Given the description of an element on the screen output the (x, y) to click on. 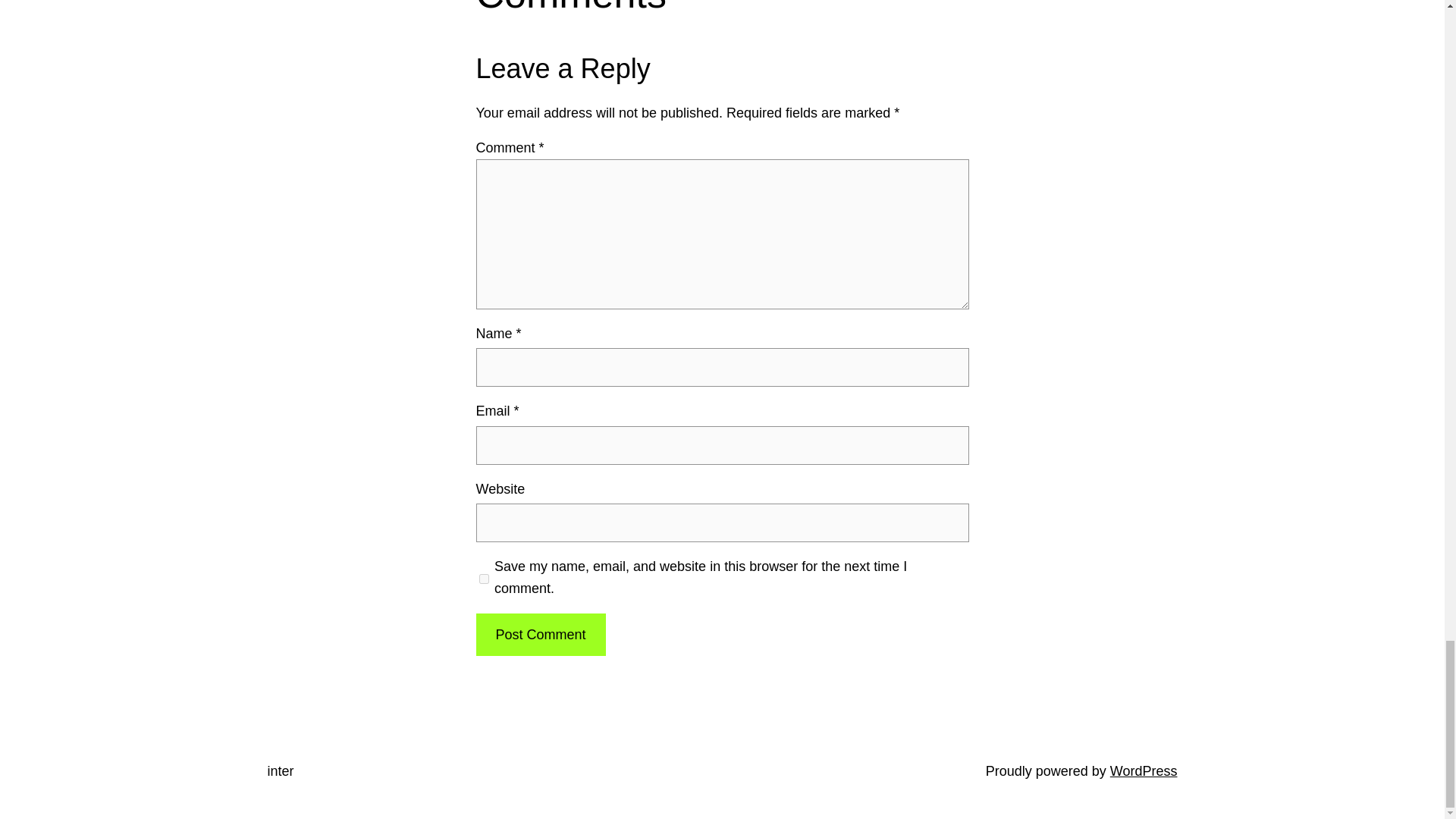
Post Comment (540, 634)
Post Comment (540, 634)
WordPress (1143, 770)
inter (280, 770)
